Given the description of an element on the screen output the (x, y) to click on. 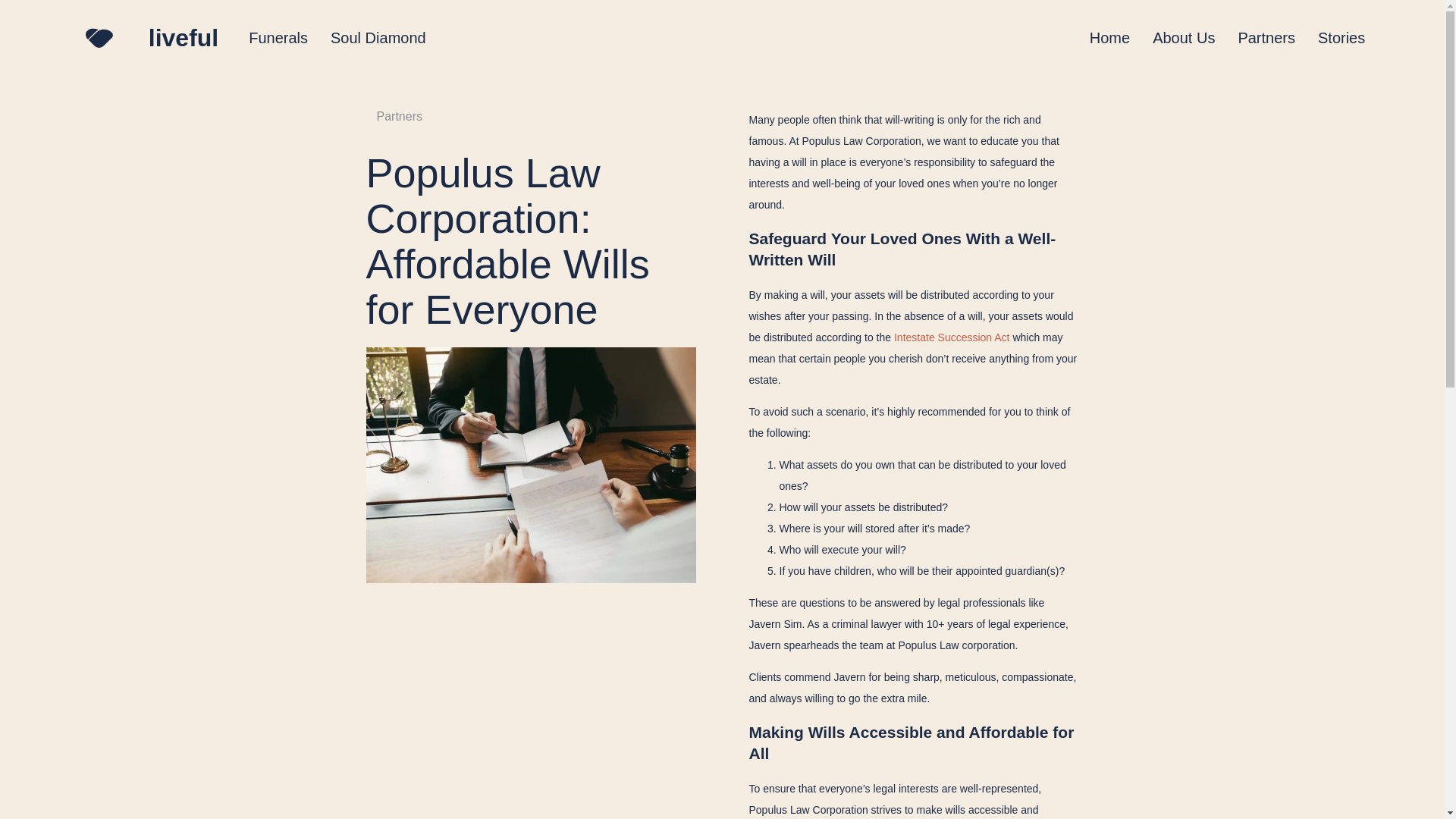
Home (1109, 37)
Soul Diamond (378, 37)
About Us (1183, 37)
Stories (1341, 37)
Partners (1266, 37)
liveful (183, 37)
Funerals (277, 37)
populus-law-corporation-affordable-wills (530, 465)
